Given the description of an element on the screen output the (x, y) to click on. 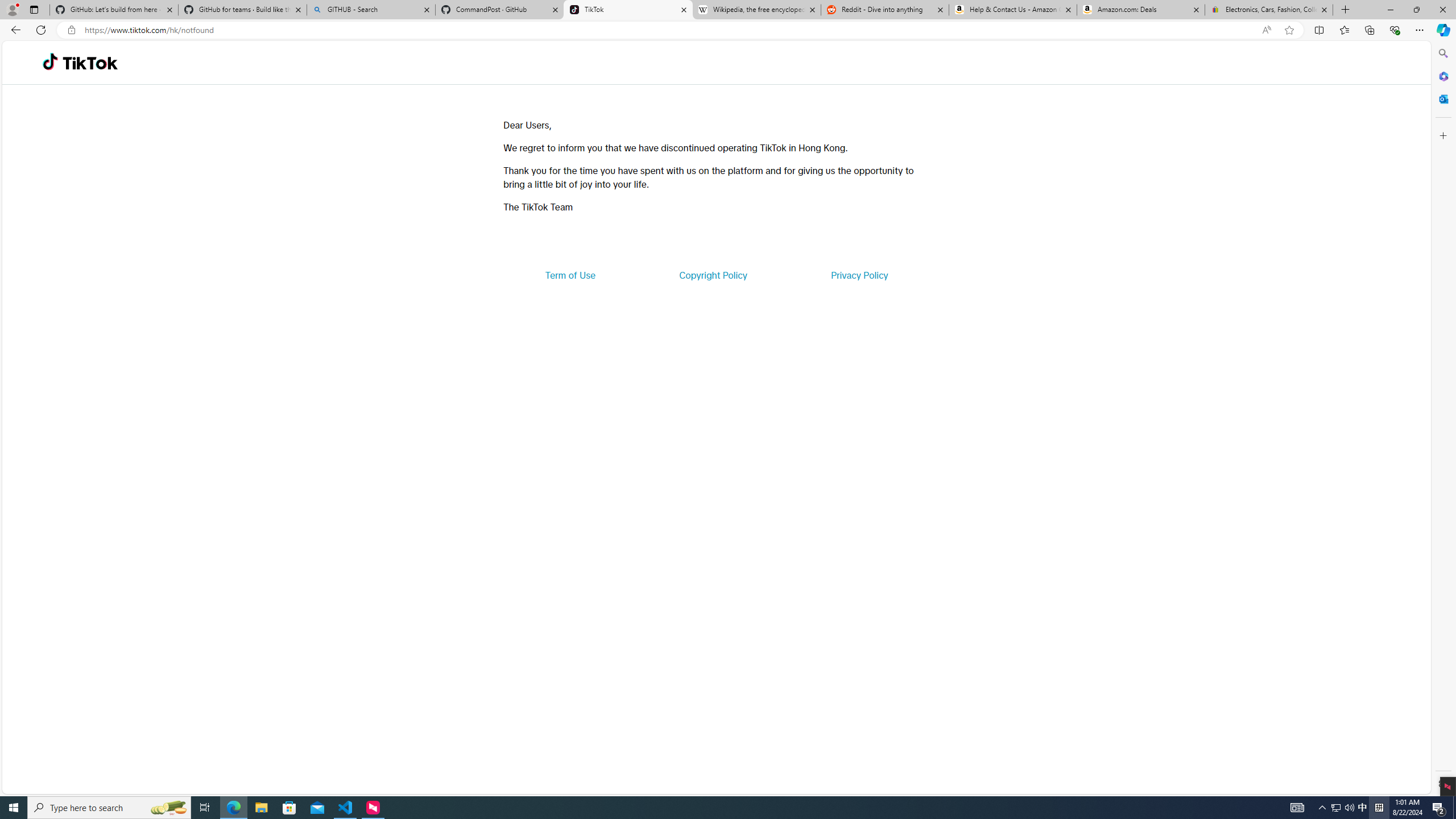
Term of Use (569, 274)
TikTok (89, 62)
